Given the description of an element on the screen output the (x, y) to click on. 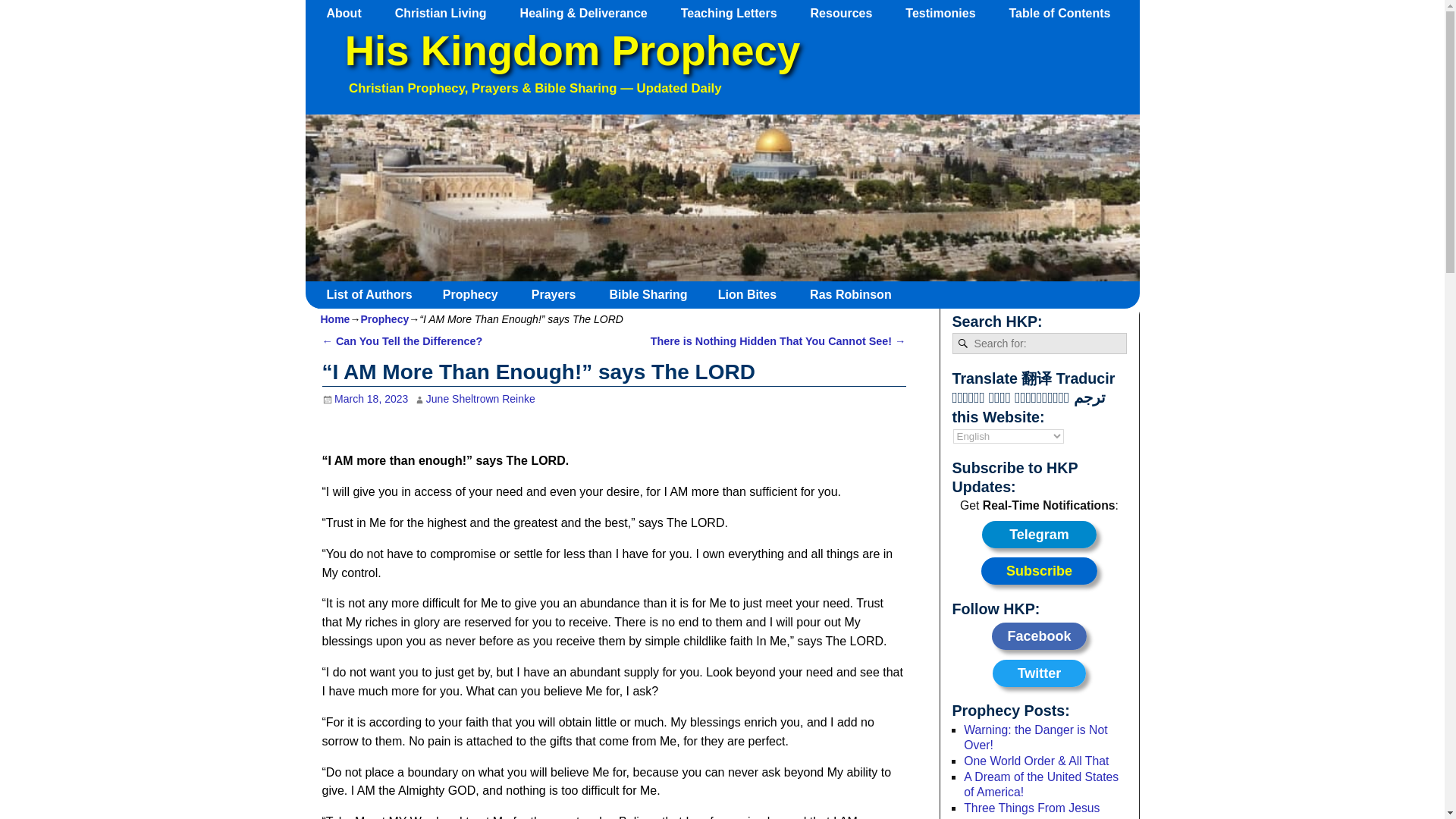
Testimonies (947, 13)
List of Authors (374, 294)
His Kingdom Prophecy (571, 50)
His Kingdom Prophecy (571, 50)
View all posts by June Sheltrown Reinke (480, 398)
5:00 pm (364, 398)
Resources (849, 13)
Christian Living (448, 13)
Teaching Letters (736, 13)
Table of Contents (1066, 13)
